Given the description of an element on the screen output the (x, y) to click on. 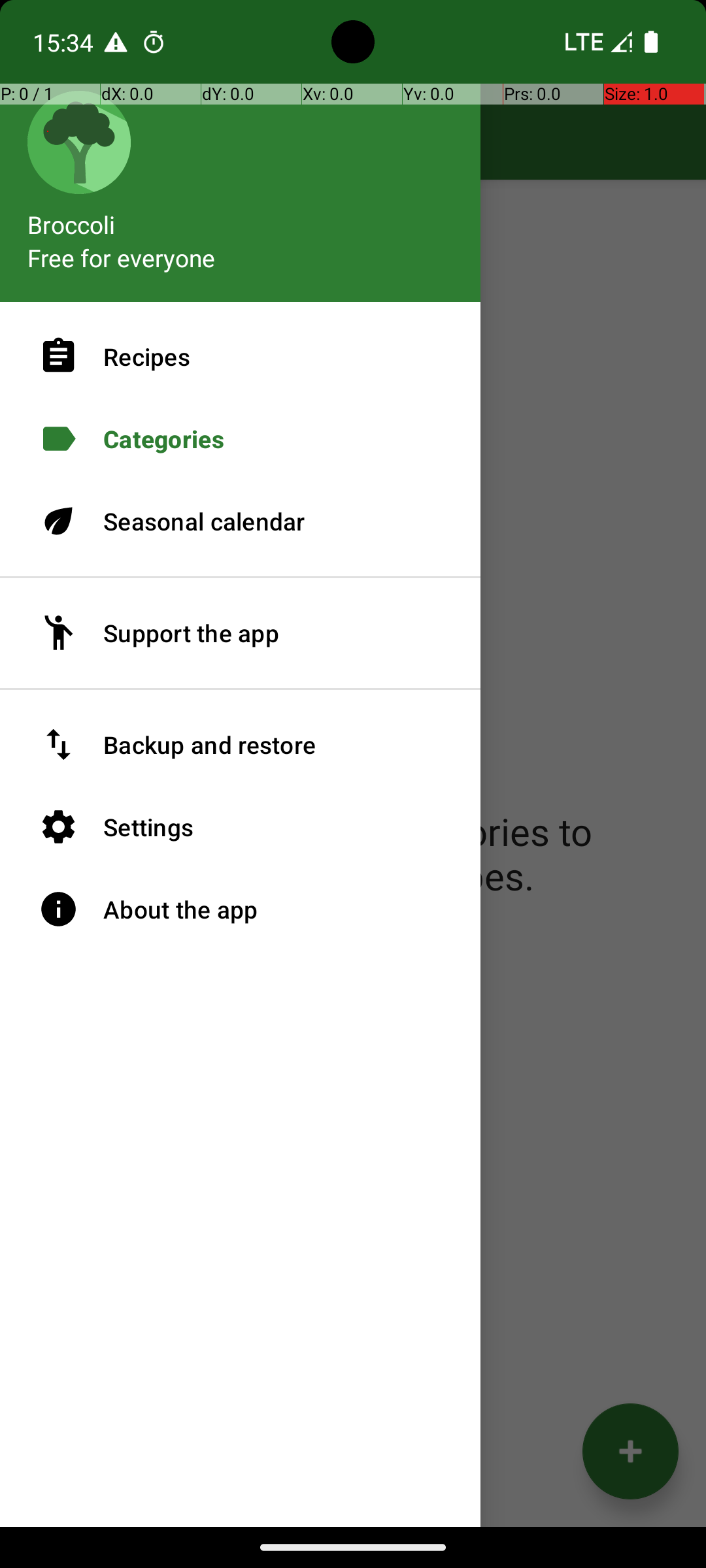
Free for everyone Element type: android.widget.TextView (121, 257)
Seasonal calendar Element type: android.widget.CheckedTextView (239, 521)
Support the app Element type: android.widget.CheckedTextView (239, 632)
Backup and restore Element type: android.widget.CheckedTextView (239, 744)
About the app Element type: android.widget.CheckedTextView (239, 909)
